Given the description of an element on the screen output the (x, y) to click on. 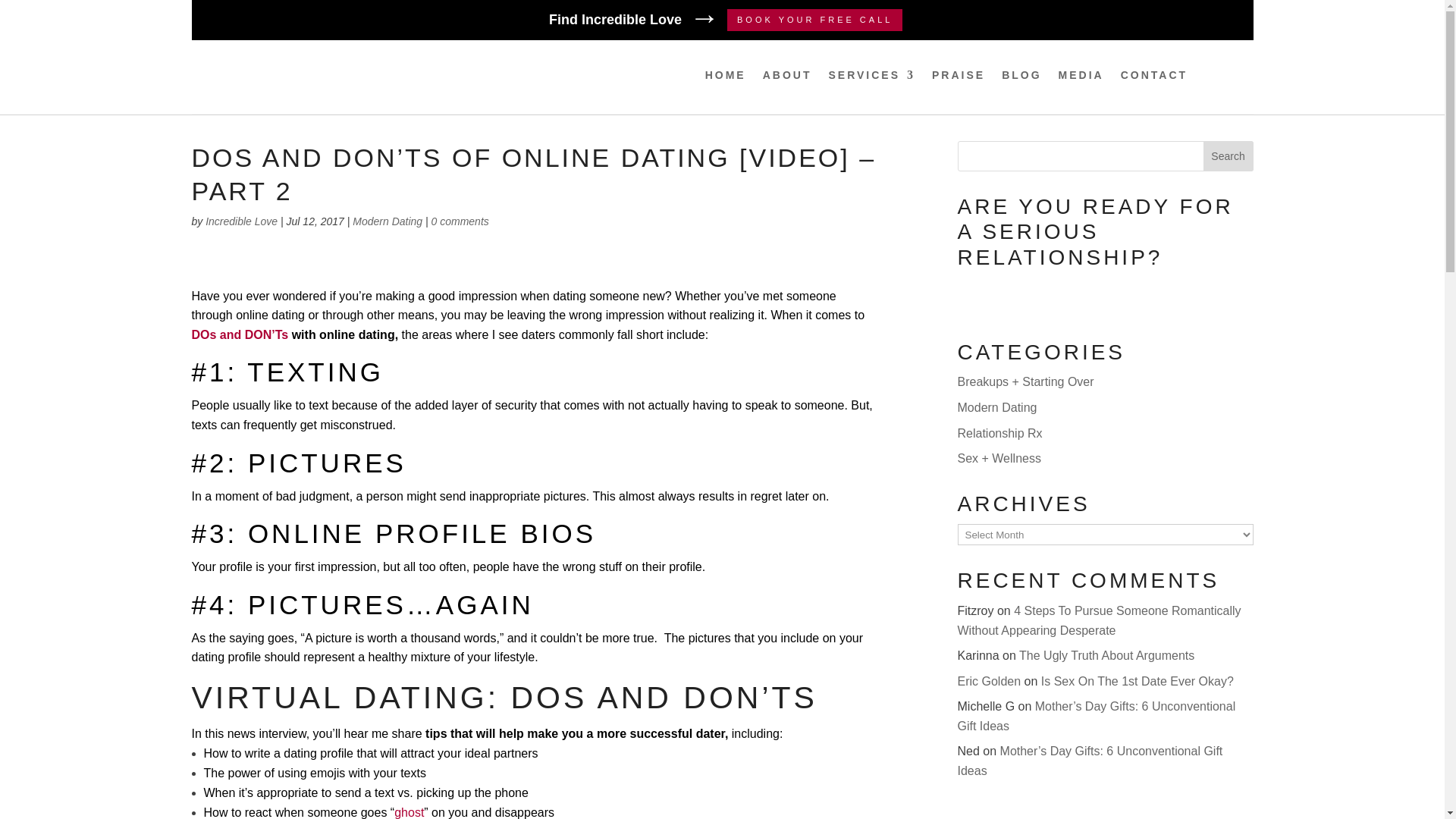
Posts by Incredible Love (241, 221)
BLOG (1021, 77)
MEDIA (1080, 77)
BOOK YOUR FREE CALL (814, 20)
CONTACT (1154, 77)
ABOUT (787, 77)
HOME (724, 77)
SERVICES (871, 77)
PRAISE (958, 77)
Search (1228, 155)
